Given the description of an element on the screen output the (x, y) to click on. 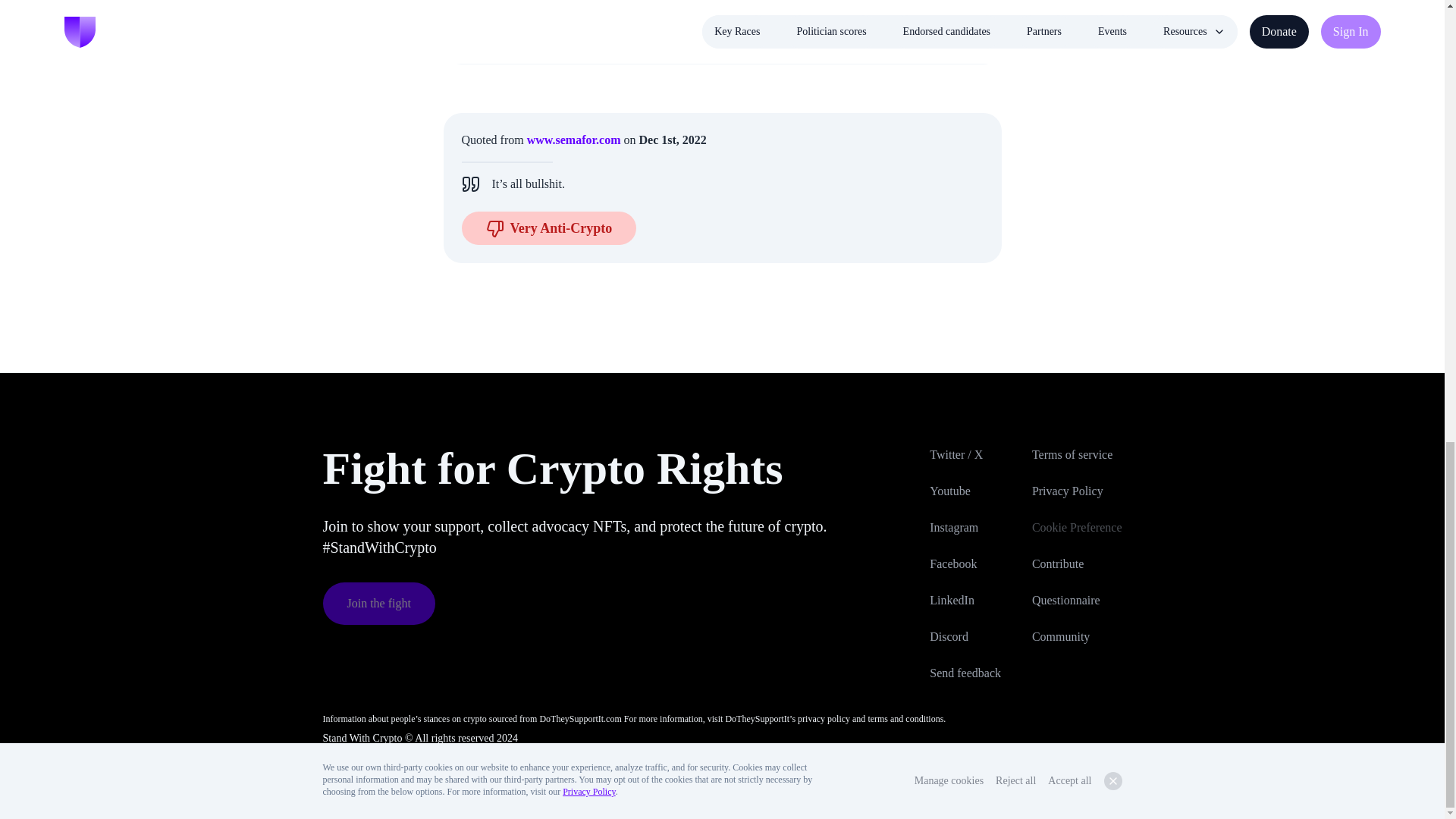
Community (1077, 637)
Facebook (975, 564)
Contribute (1077, 564)
Cookie Preference (1077, 527)
Join the fight (379, 603)
Questionnaire (1077, 600)
Send feedback (975, 673)
Discord (975, 637)
Instagram (975, 527)
terms and conditions (905, 718)
